Given the description of an element on the screen output the (x, y) to click on. 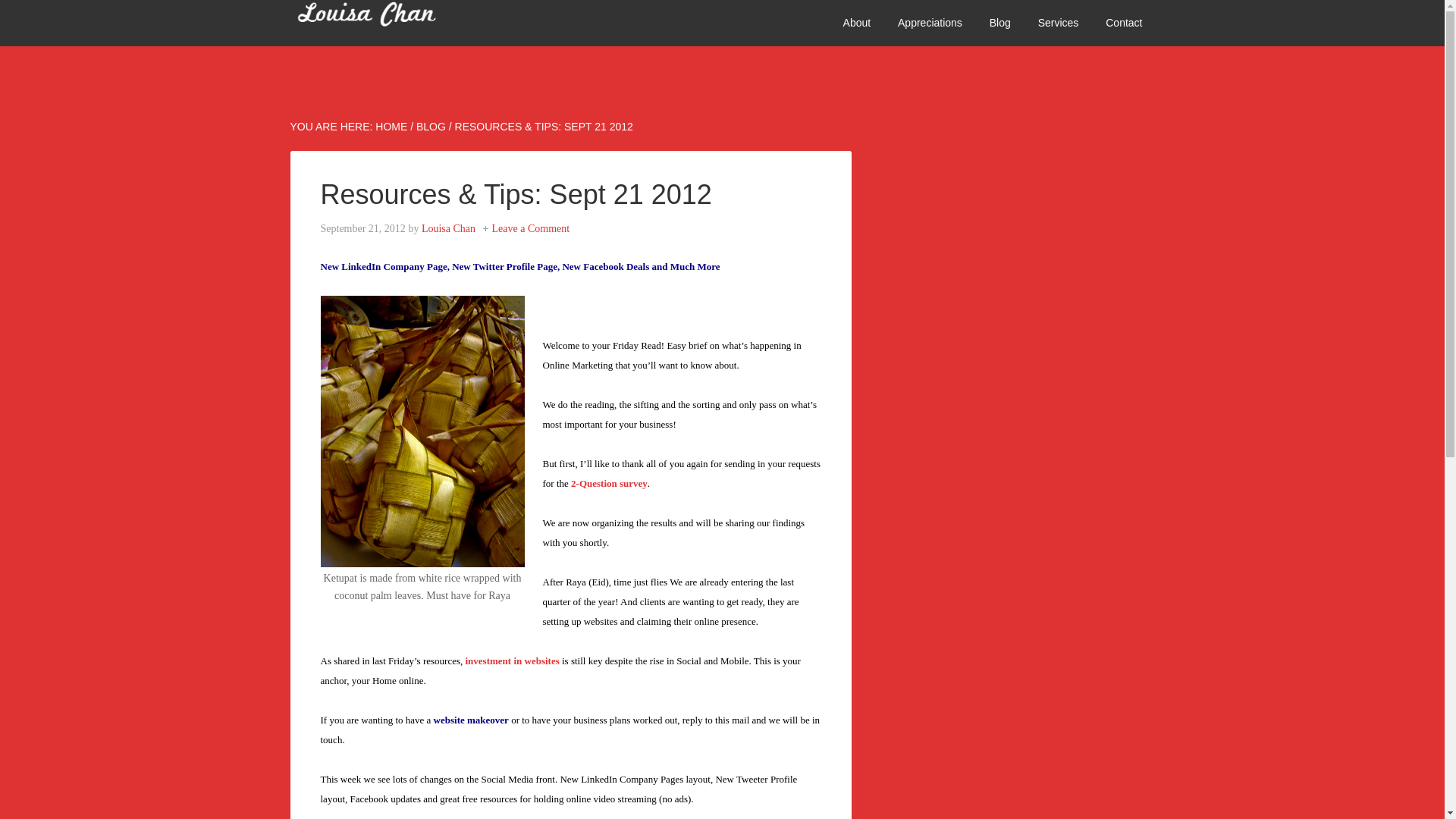
About (857, 22)
Services (1058, 22)
My Biggest Challenge As A Business Owner (608, 482)
Appreciations (929, 22)
Investments In Websites is still key (512, 660)
investment in websites (512, 660)
LOUISA CHAN (402, 22)
BLOG (430, 126)
2-Question survey (608, 482)
HOME (391, 126)
Louisa Chan (449, 228)
Blog (999, 22)
Leave a Comment (531, 228)
Contact (1123, 22)
